Given the description of an element on the screen output the (x, y) to click on. 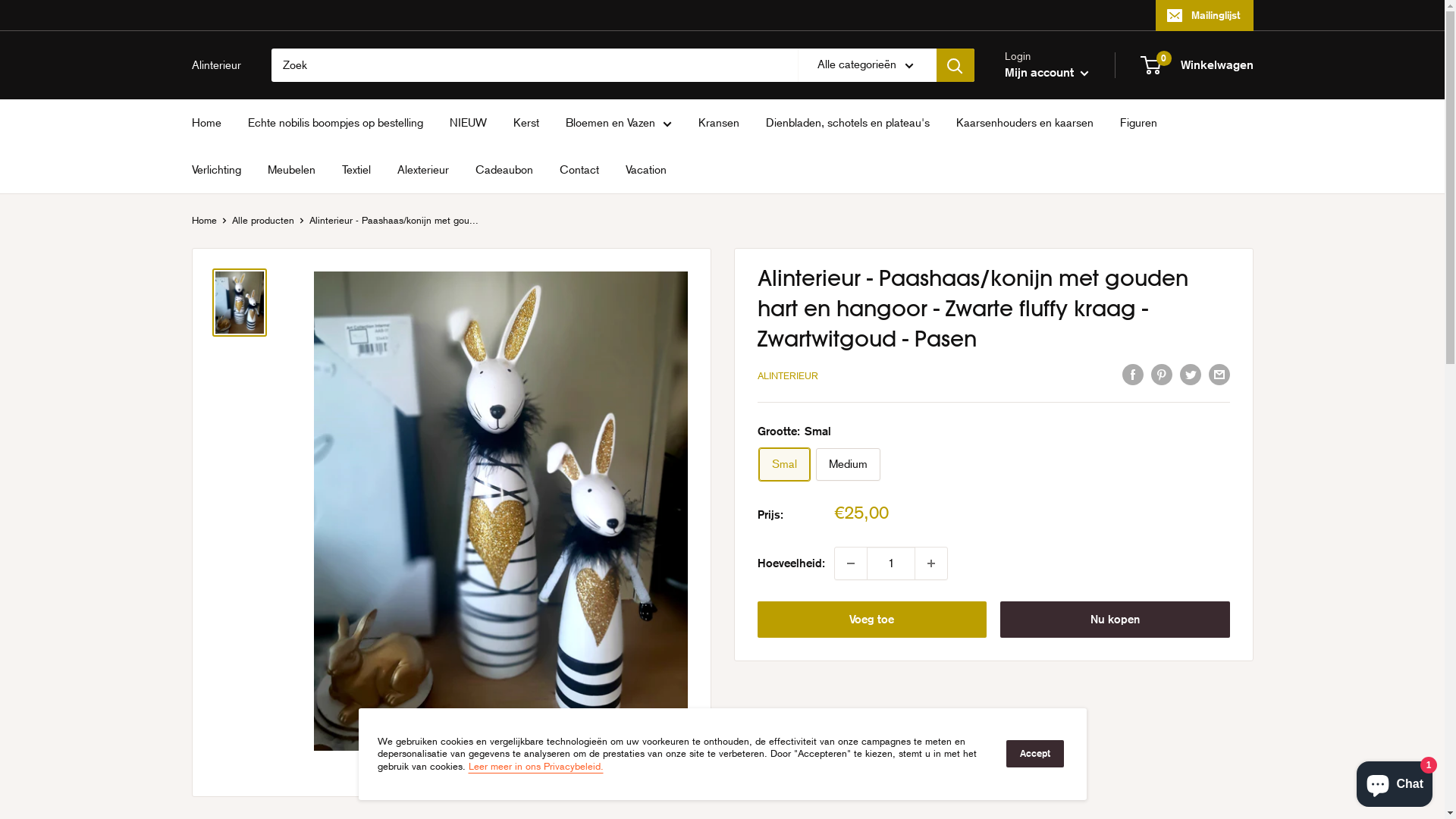
Figuren Element type: text (1137, 122)
Cadeaubon Element type: text (503, 169)
Bloemen en Vazen Element type: text (618, 122)
Onlinewinkel-chat van Shopify Element type: hover (1394, 780)
Kerst Element type: text (525, 122)
Echte nobilis boompjes op bestelling Element type: text (334, 122)
Alexterieur Element type: text (422, 169)
Vacation Element type: text (644, 169)
0
Winkelwagen Element type: text (1197, 64)
Mailinglijst Element type: text (1204, 15)
Meubelen Element type: text (290, 169)
Voeg toe Element type: text (871, 619)
Verlichting Element type: text (215, 169)
Nu kopen Element type: text (1115, 619)
Home Element type: text (205, 122)
Kaarsenhouders en kaarsen Element type: text (1023, 122)
Dienbladen, schotels en plateau's Element type: text (847, 122)
Accept Element type: text (1034, 753)
Leer meer in ons Privacybeleid. Element type: text (535, 765)
Kransen Element type: text (717, 122)
ALINTERIEUR Element type: text (786, 375)
NIEUW Element type: text (467, 122)
min Element type: hover (850, 563)
Alinterieur Element type: text (215, 64)
Contact Element type: text (579, 169)
Textiel Element type: text (355, 169)
Home Element type: text (203, 219)
plus Element type: hover (930, 563)
Alle producten Element type: text (263, 219)
Mijn account Element type: text (1046, 72)
